Given the description of an element on the screen output the (x, y) to click on. 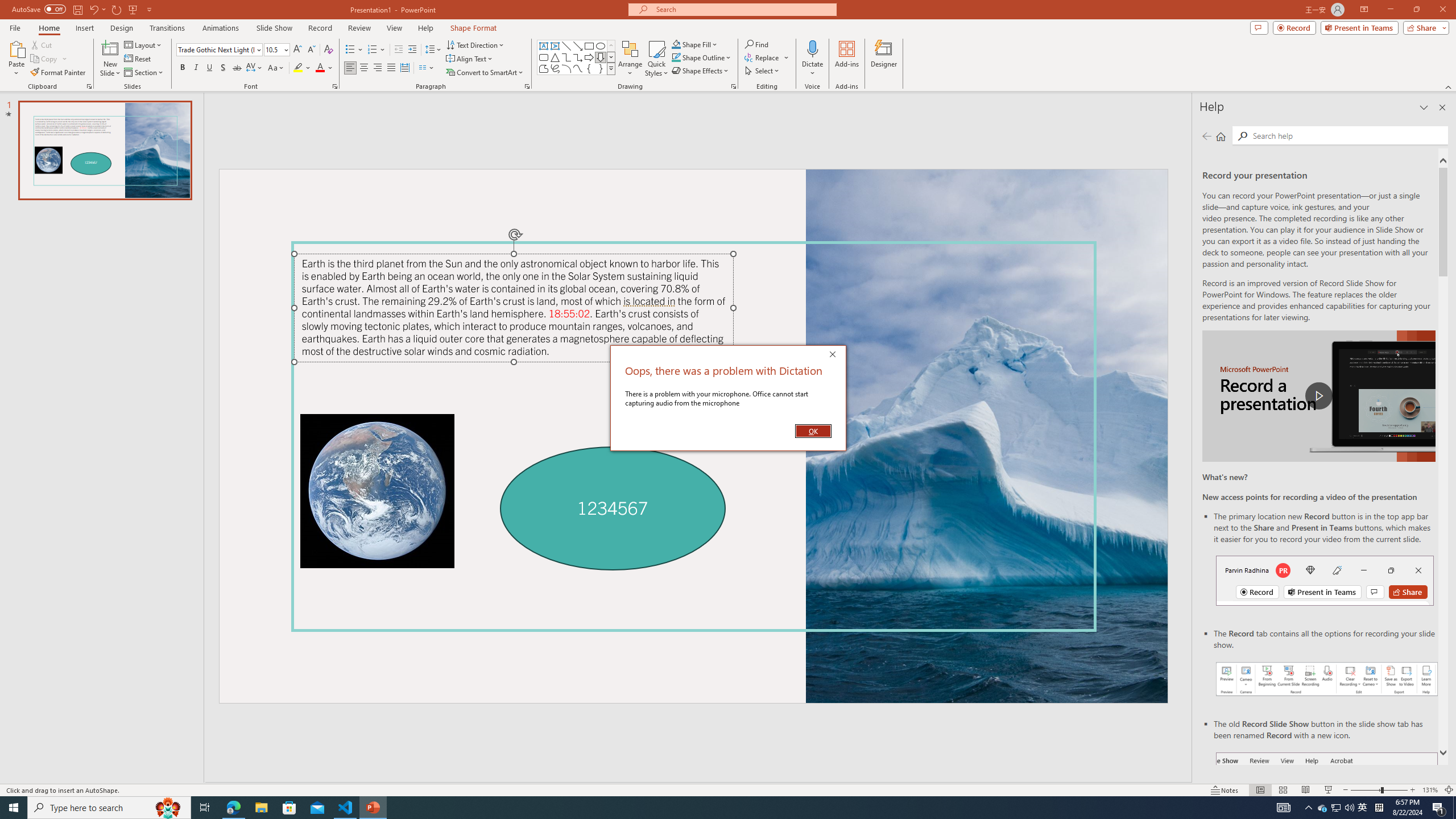
Microsoft Edge - 1 running window (233, 807)
